Given the description of an element on the screen output the (x, y) to click on. 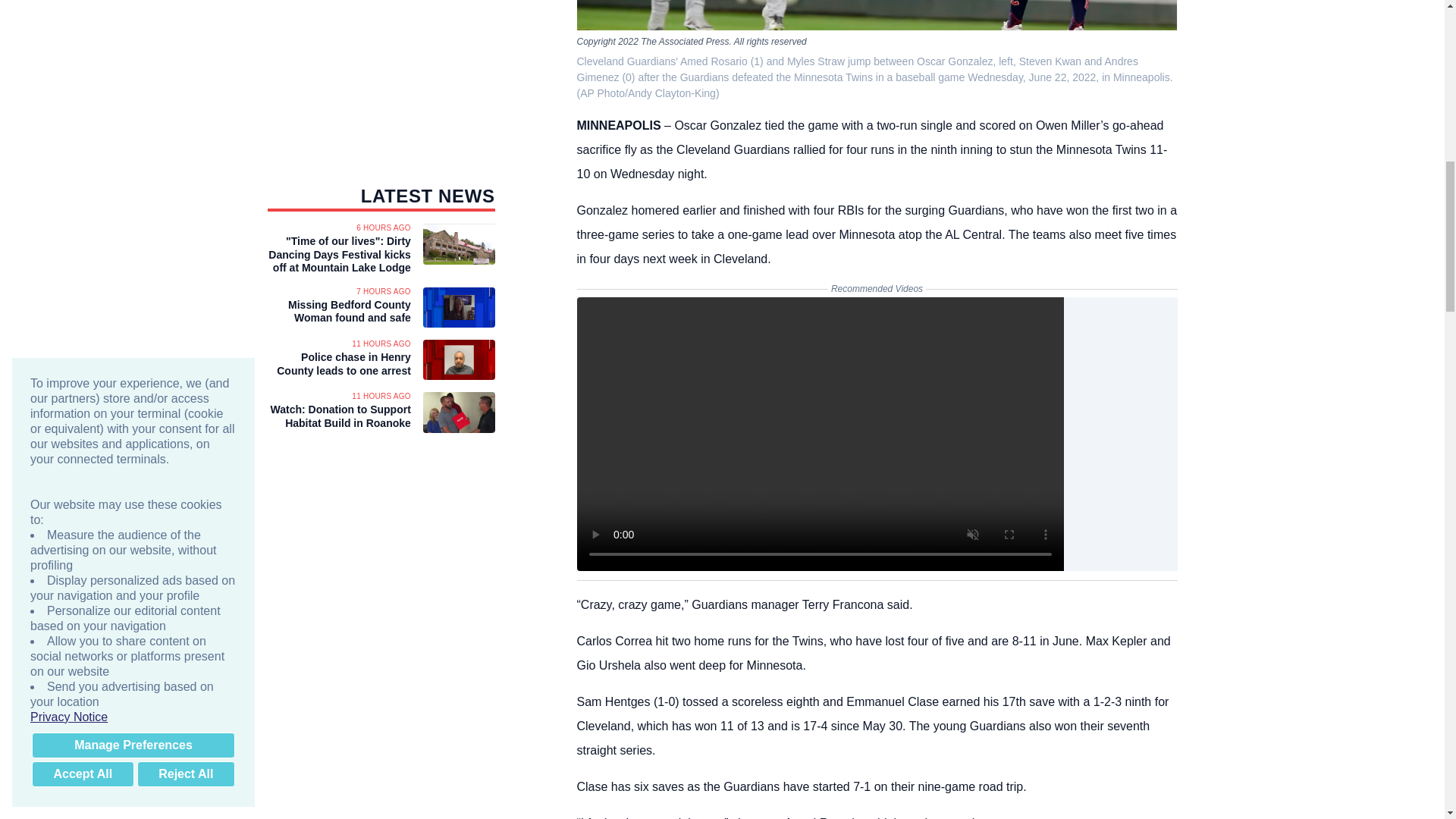
Missing Bedford County Woman found and safe (338, 311)
Play Video (820, 434)
Police chase in Henry County leads to one arrest (338, 364)
Watch: Donation to Support Habitat Build in Roanoke (338, 416)
